Given the description of an element on the screen output the (x, y) to click on. 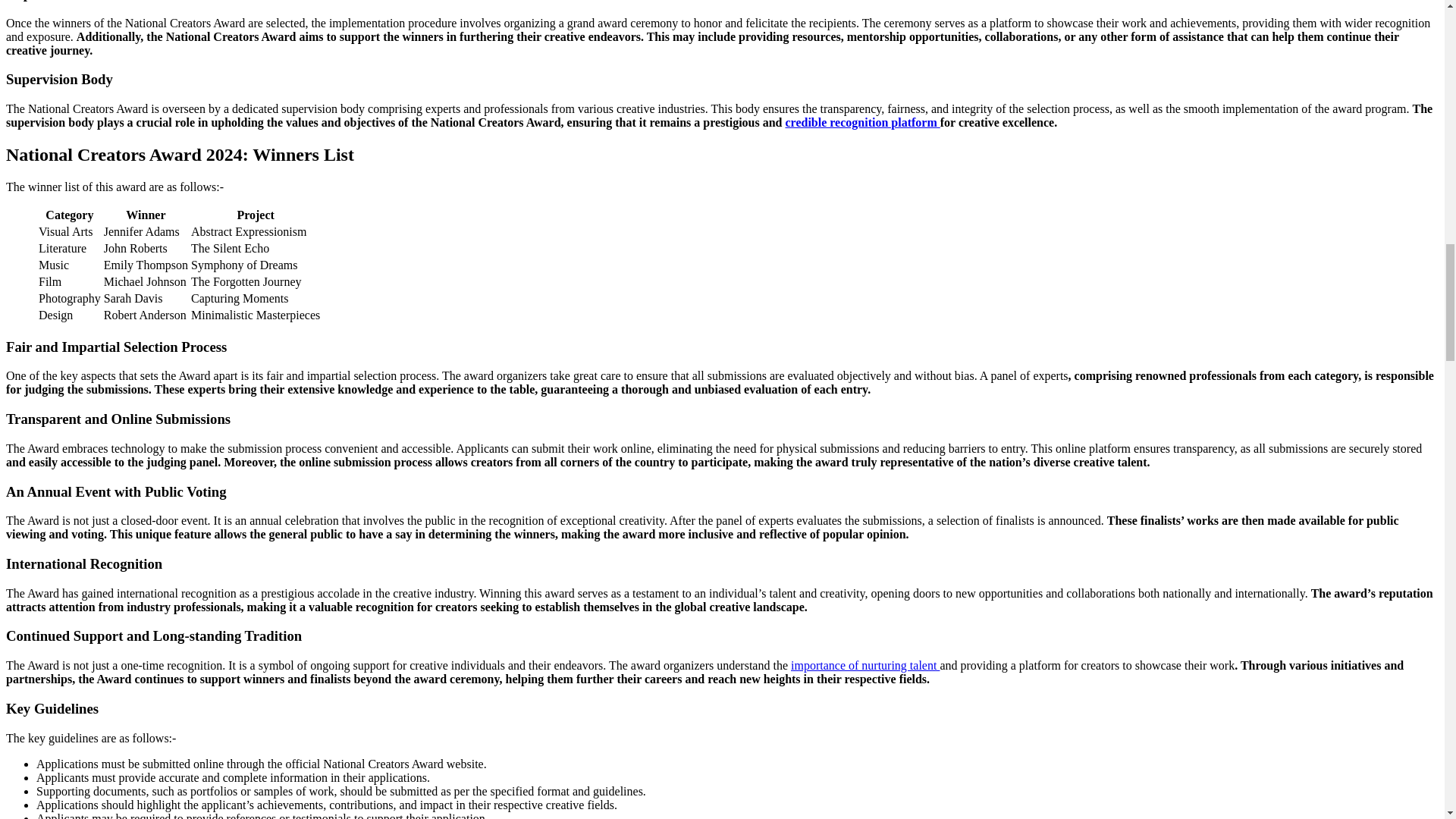
importance of nurturing talent (864, 665)
credible recognition platform (863, 122)
